Given the description of an element on the screen output the (x, y) to click on. 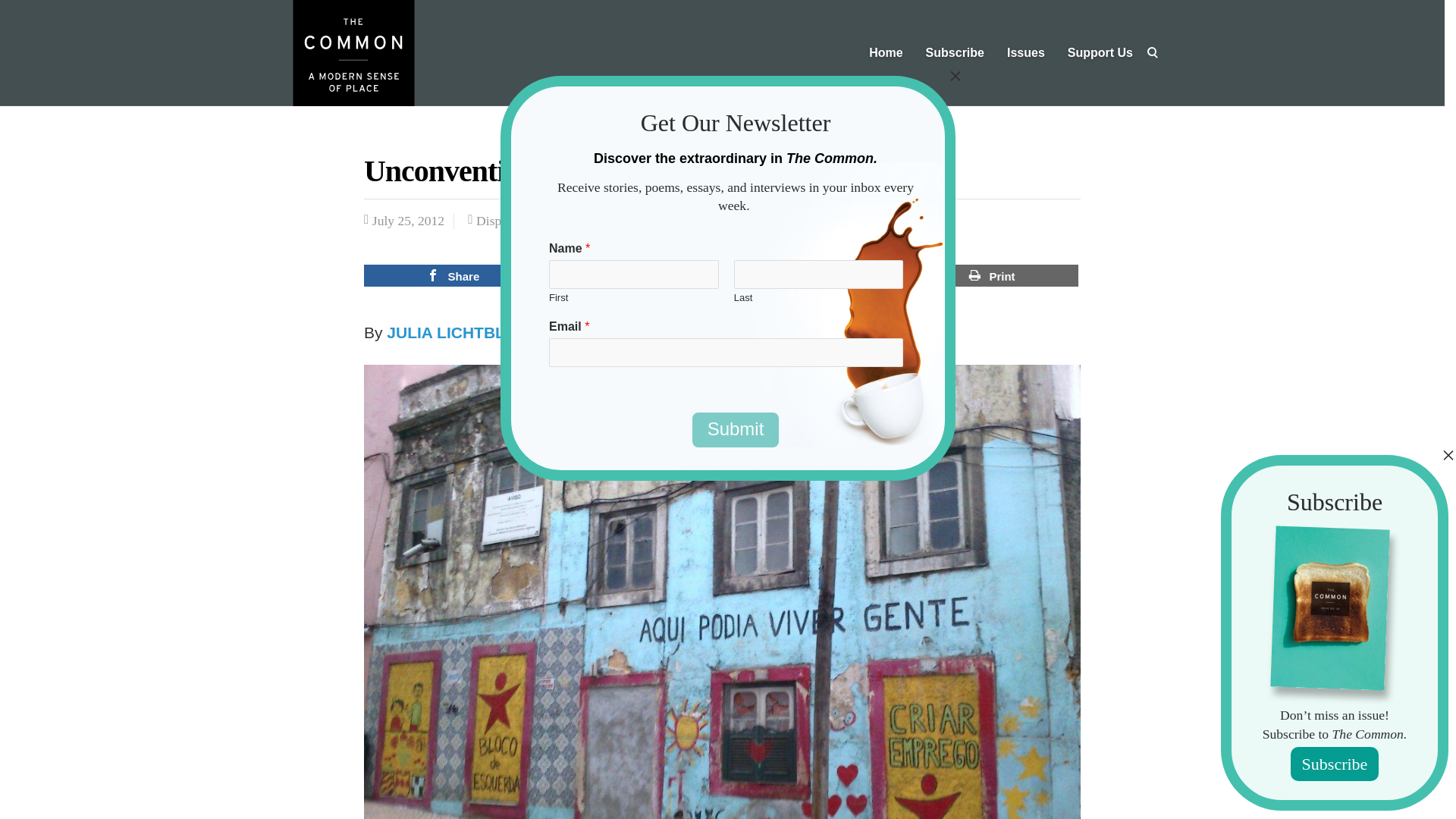
Print (991, 275)
JULIA LICHTBLAU (457, 332)
Share (453, 275)
Dispatches (505, 220)
Email (813, 275)
Tweet (633, 275)
